Given the description of an element on the screen output the (x, y) to click on. 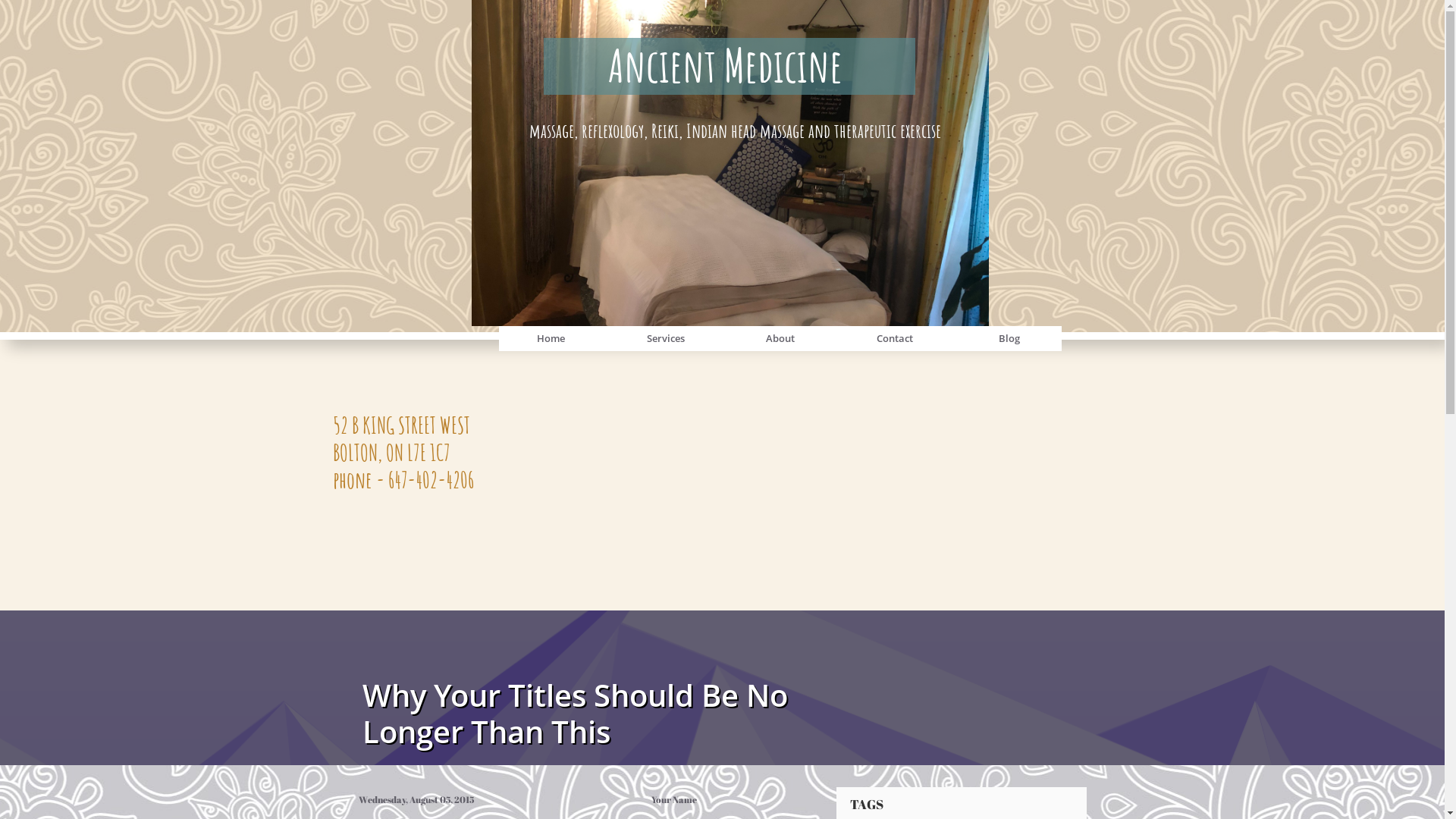
Services Element type: text (664, 338)
Home Element type: text (550, 338)
About Element type: text (780, 338)
Blog Element type: text (1009, 338)
Contact Element type: text (893, 338)
